Given the description of an element on the screen output the (x, y) to click on. 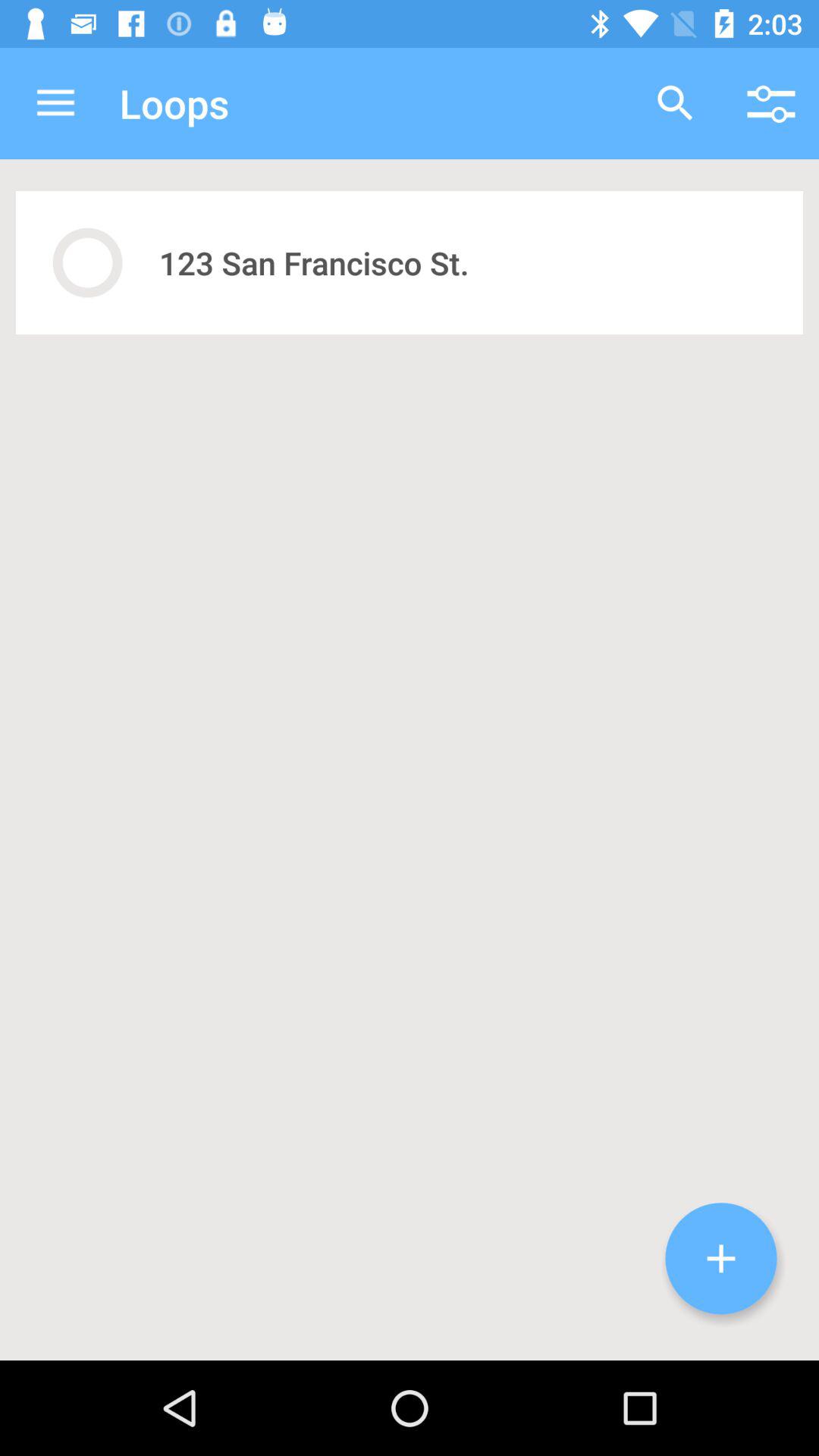
open the icon at the bottom right corner (721, 1258)
